Given the description of an element on the screen output the (x, y) to click on. 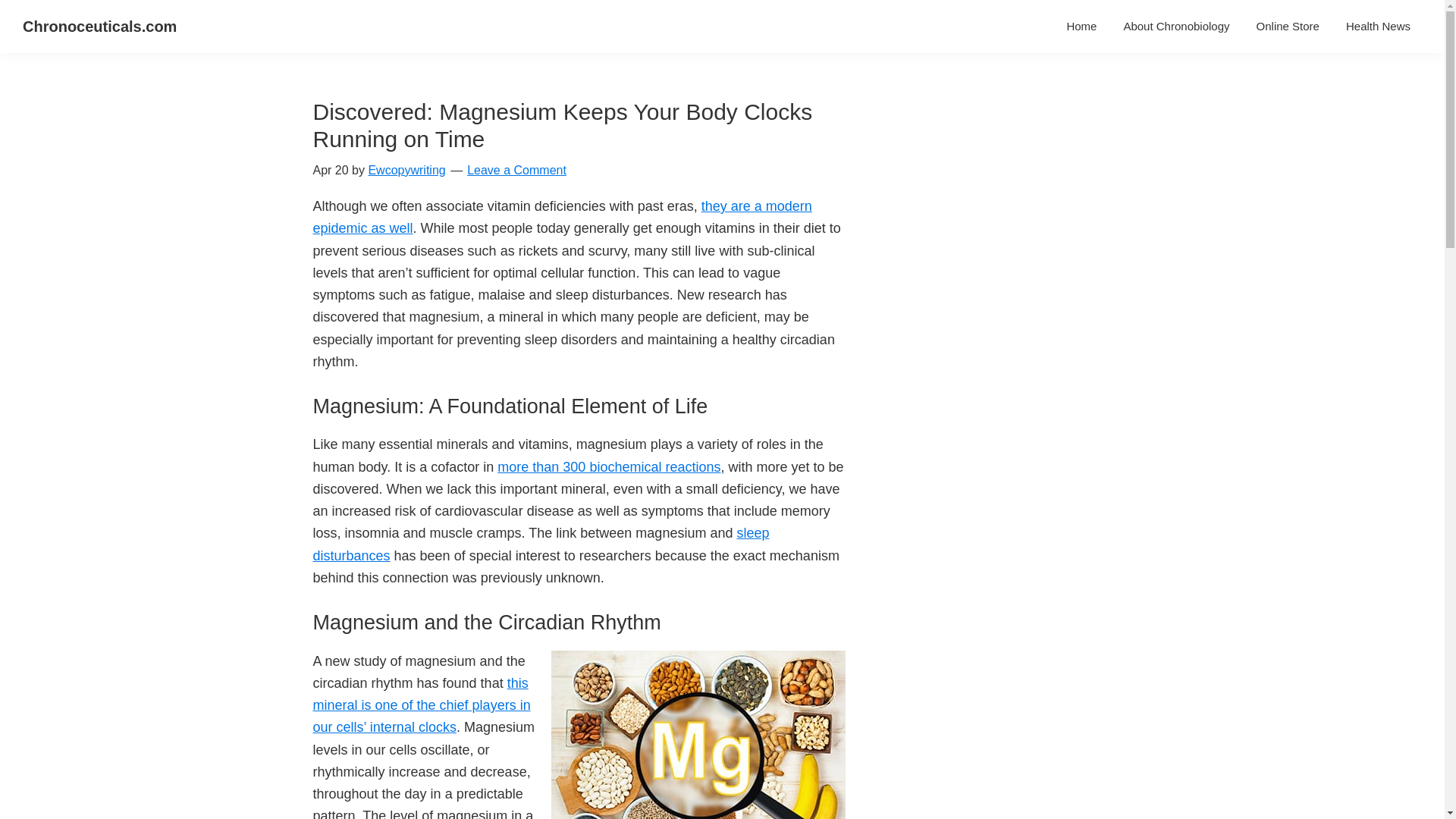
Health News (1378, 25)
Leave a Comment (516, 169)
Online Store (1287, 25)
About Chronobiology (1176, 25)
Ewcopywriting (406, 169)
Home (1081, 25)
Chronoceuticals.com (99, 26)
sleep disturbances (540, 543)
more than 300 biochemical reactions (608, 467)
